Given the description of an element on the screen output the (x, y) to click on. 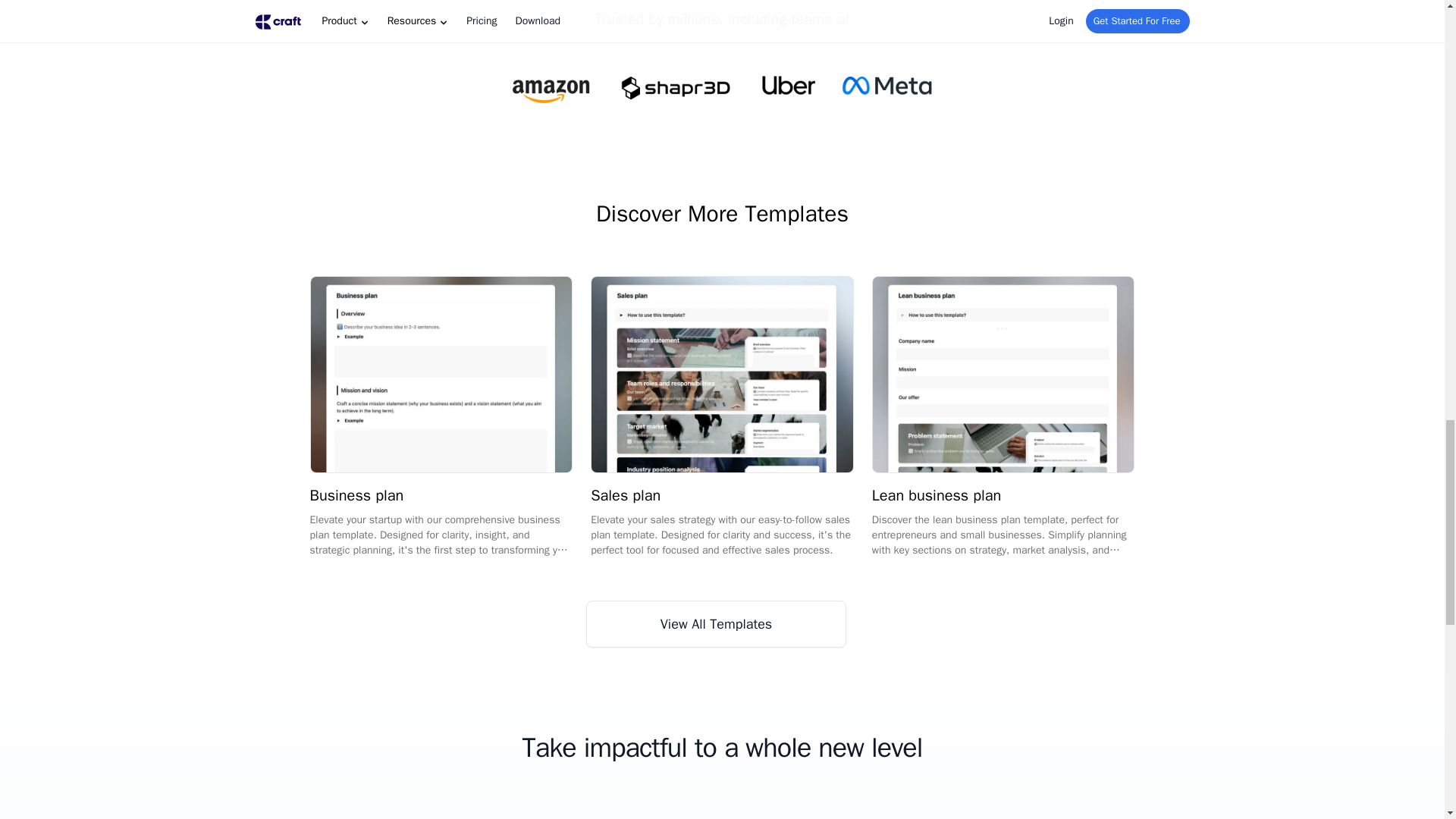
View All Templates (715, 623)
